Given the description of an element on the screen output the (x, y) to click on. 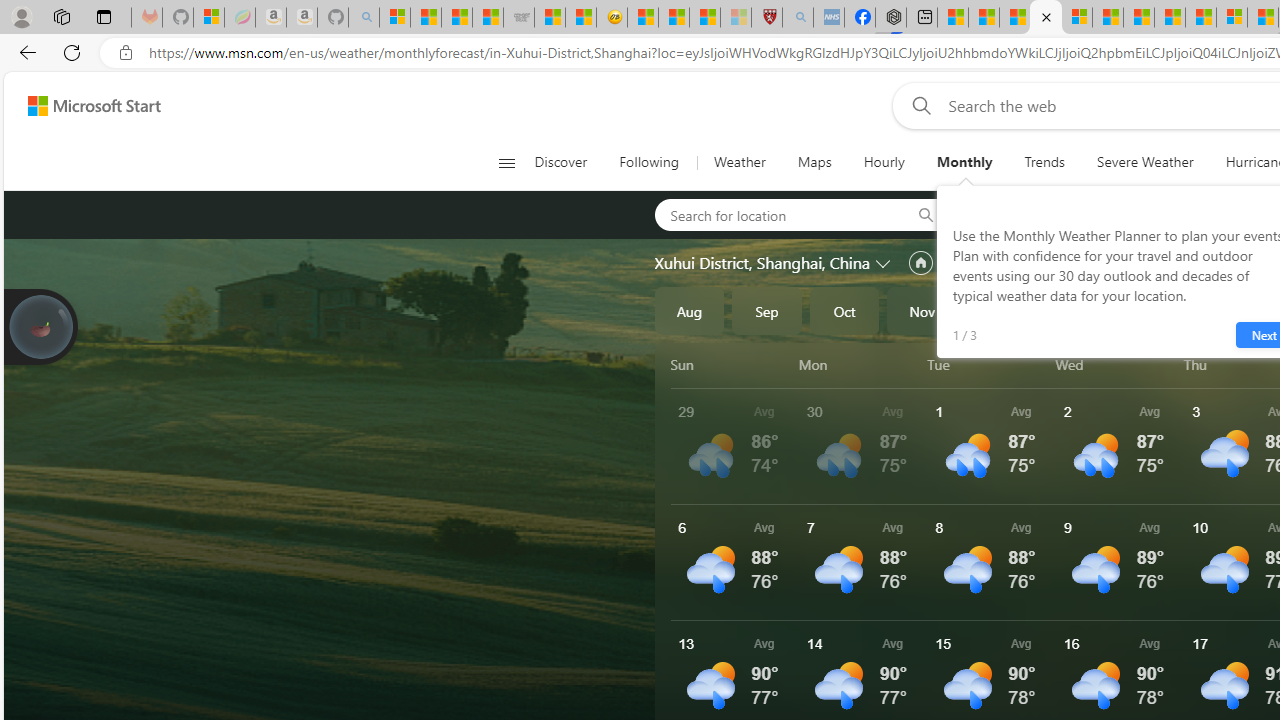
Aberdeen (1022, 214)
2025 Jan (1077, 310)
Aug (689, 310)
Feb (1155, 310)
Tue (987, 363)
Robert H. Shmerling, MD - Harvard Health (766, 17)
See More Details (1120, 561)
list of asthma inhalers uk - Search - Sleeping (797, 17)
Hourly (884, 162)
Dec (1000, 310)
Dec (1000, 310)
